Given the description of an element on the screen output the (x, y) to click on. 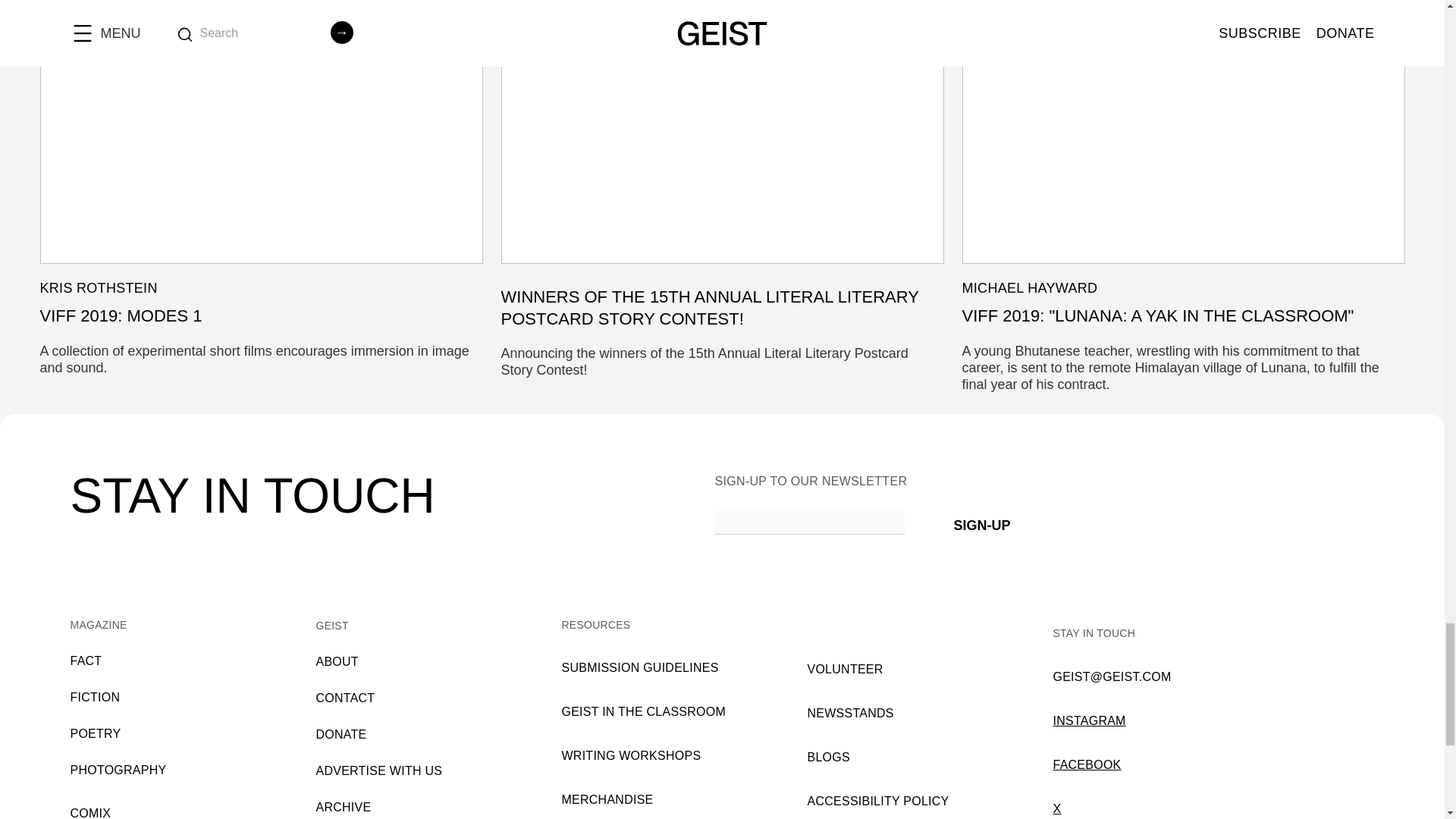
SIGN-UP (982, 522)
